Given the description of an element on the screen output the (x, y) to click on. 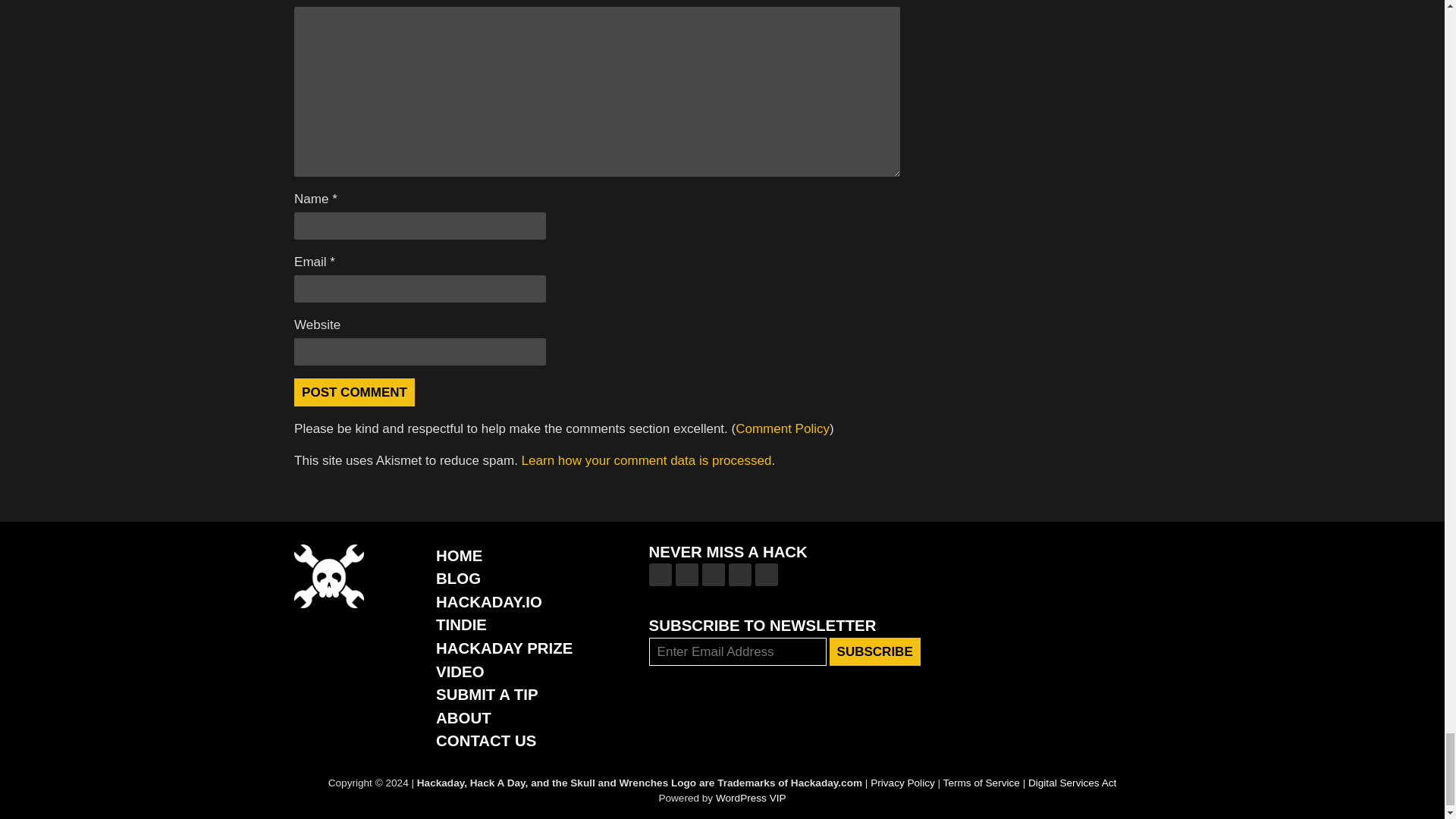
Subscribe (874, 652)
Build Something that Matters (503, 647)
Post Comment (354, 392)
